Given the description of an element on the screen output the (x, y) to click on. 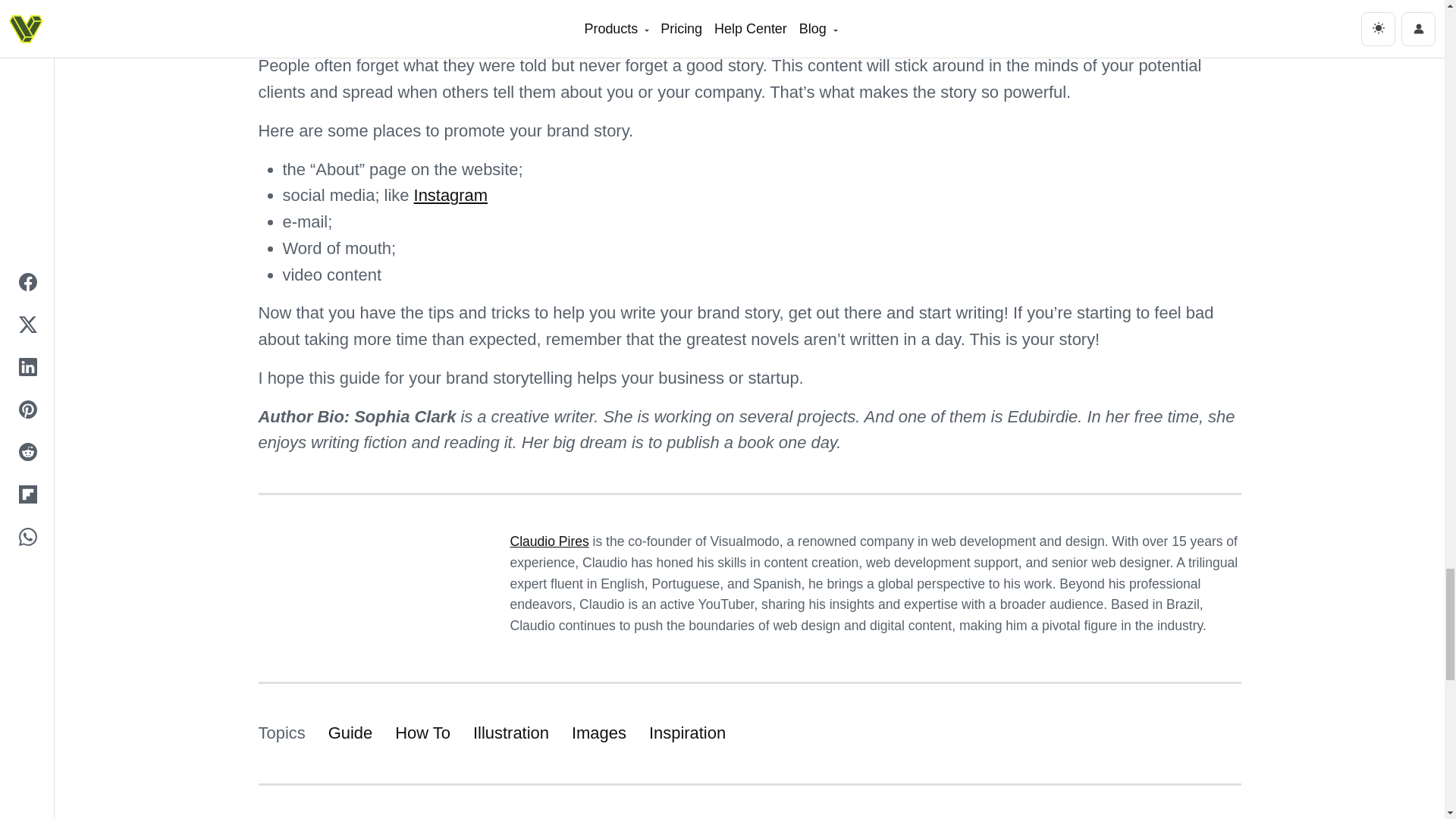
Instagram (450, 194)
